Given the description of an element on the screen output the (x, y) to click on. 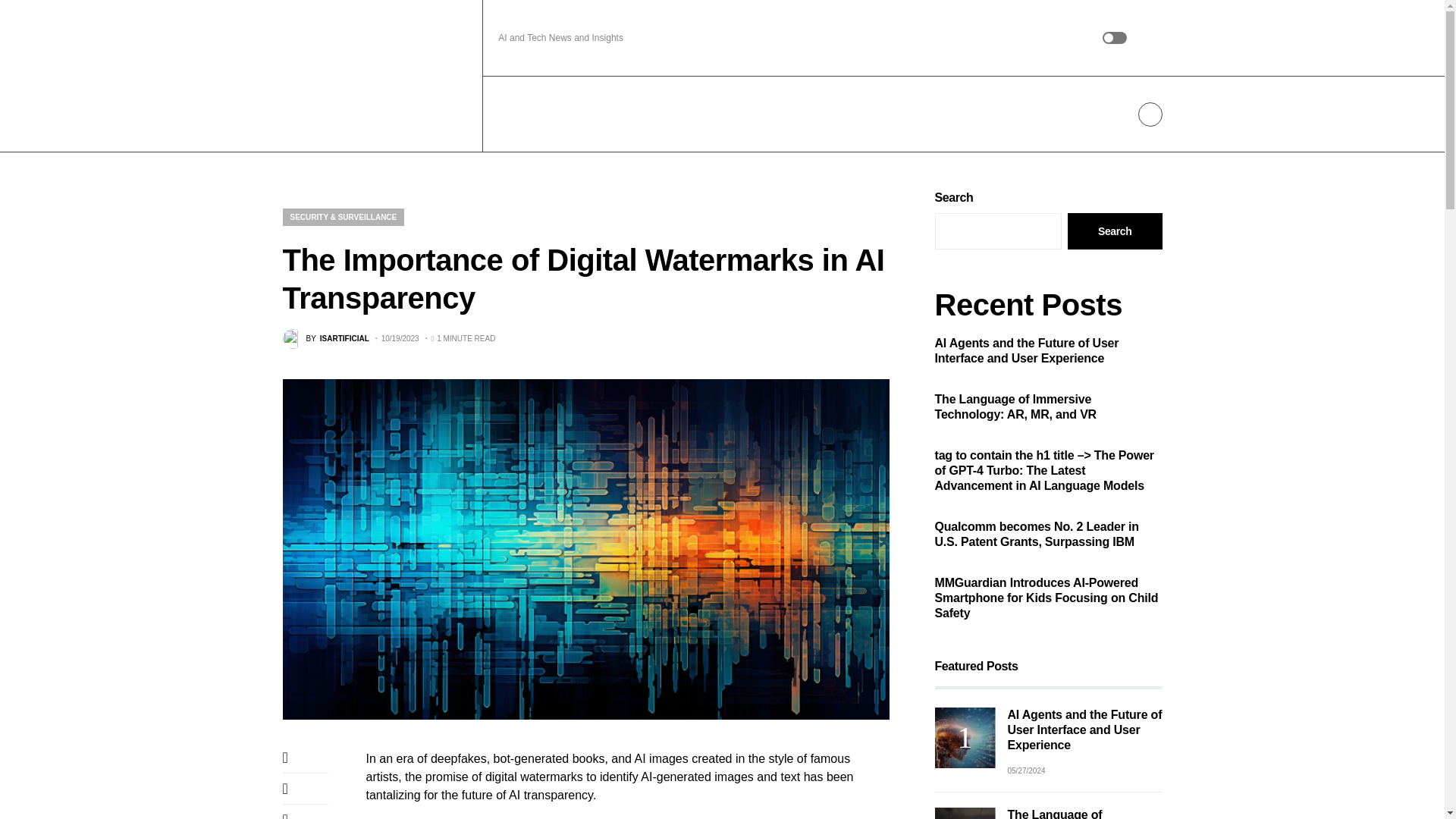
View all posts by IsArtificial (325, 338)
